Given the description of an element on the screen output the (x, y) to click on. 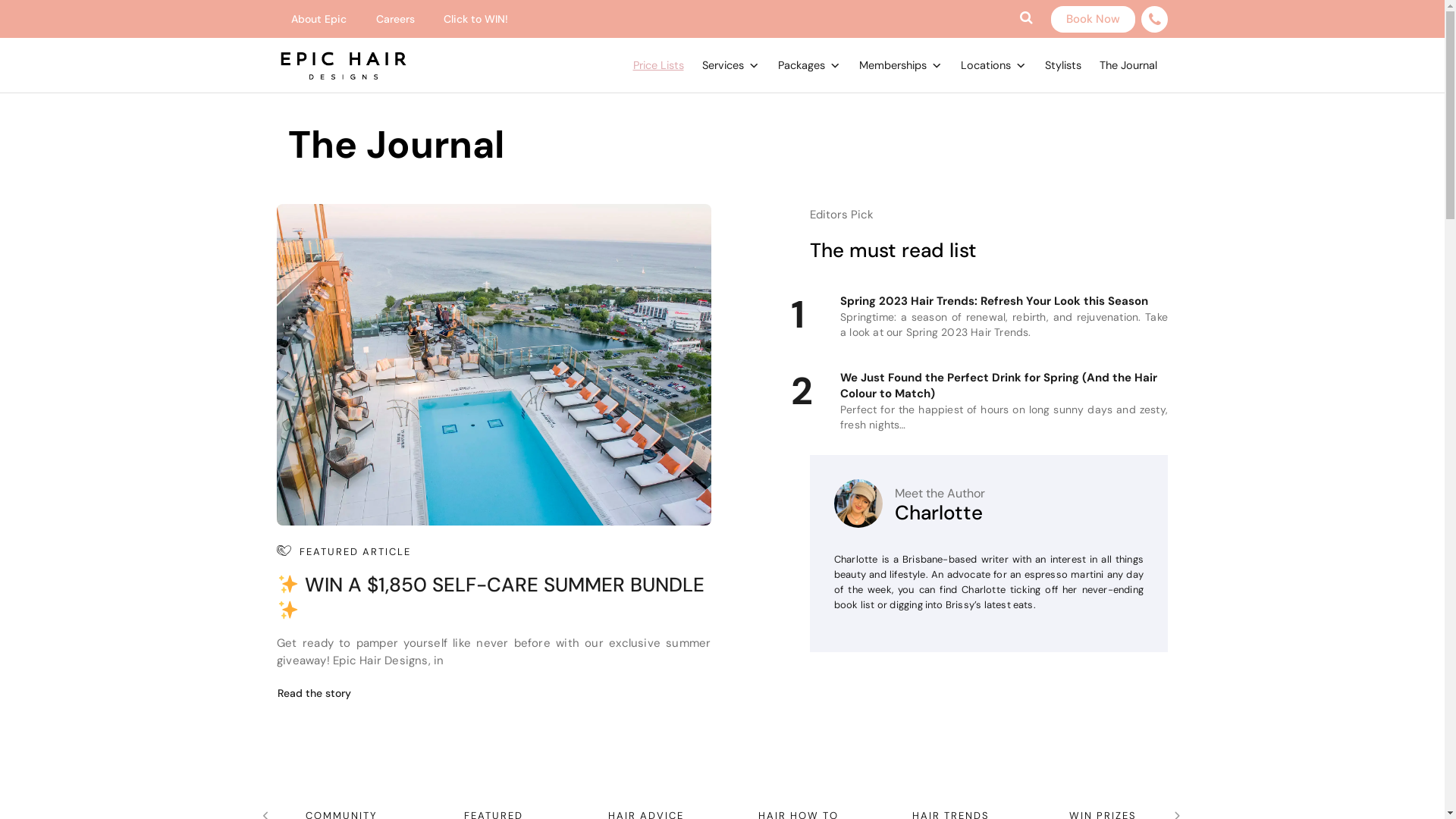
Memberships Element type: text (899, 65)
Packages Element type: text (809, 65)
Click to WIN! Element type: text (475, 18)
Price Lists Element type: text (657, 65)
About Epic Element type: text (318, 18)
Read the story Element type: text (313, 690)
The Journal Element type: text (1128, 65)
Locations Element type: text (992, 65)
Services Element type: text (730, 65)
Stylists Element type: text (1062, 65)
WIN A $1,850 SELF-CARE SUMMER BUNDLE Element type: text (490, 597)
Careers Element type: text (394, 18)
Book Now Element type: text (1093, 19)
